Given the description of an element on the screen output the (x, y) to click on. 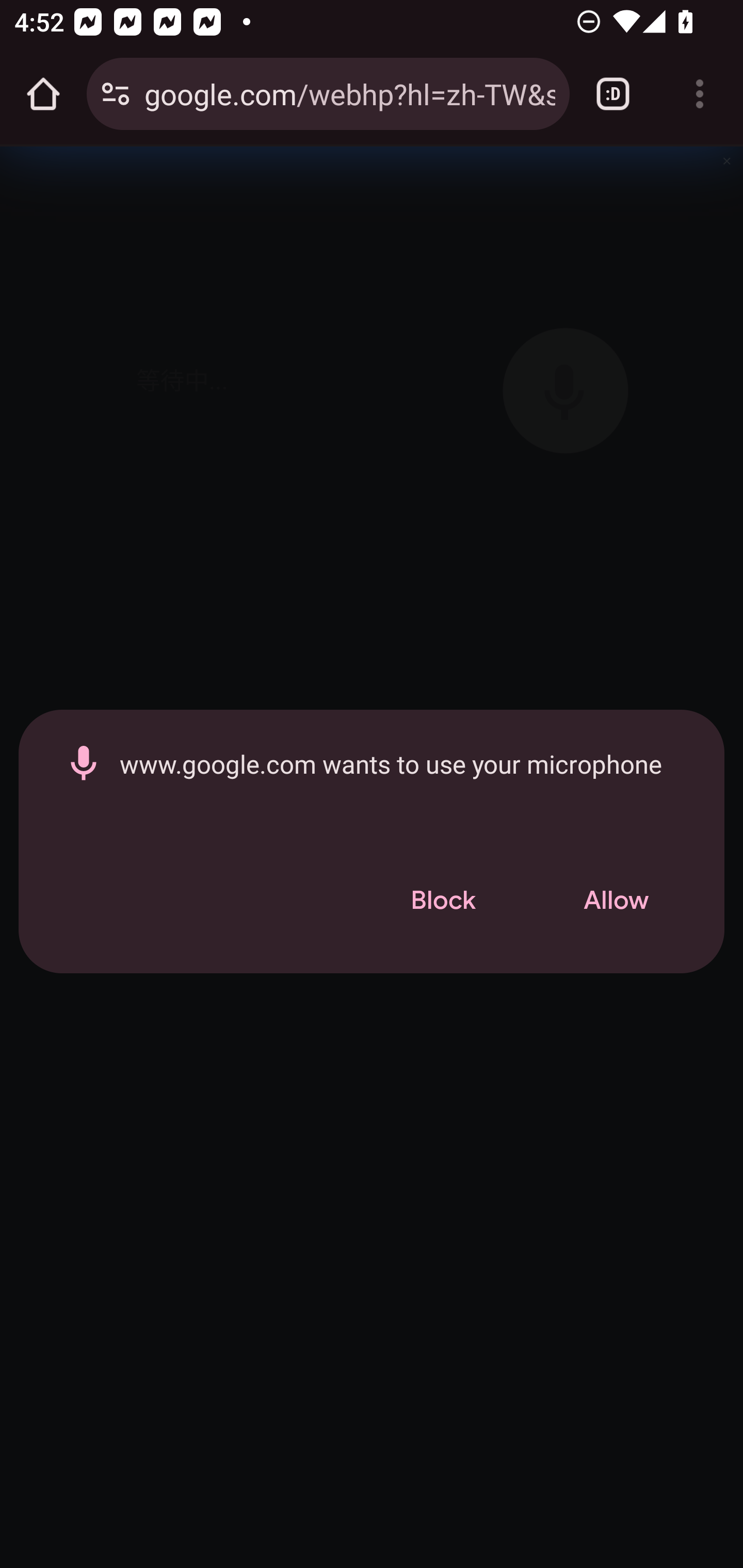
Open the home page (43, 93)
Connection is secure (115, 93)
Switch or close tabs (612, 93)
Customize and control Google Chrome (699, 93)
Block (442, 900)
Allow (615, 900)
